Given the description of an element on the screen output the (x, y) to click on. 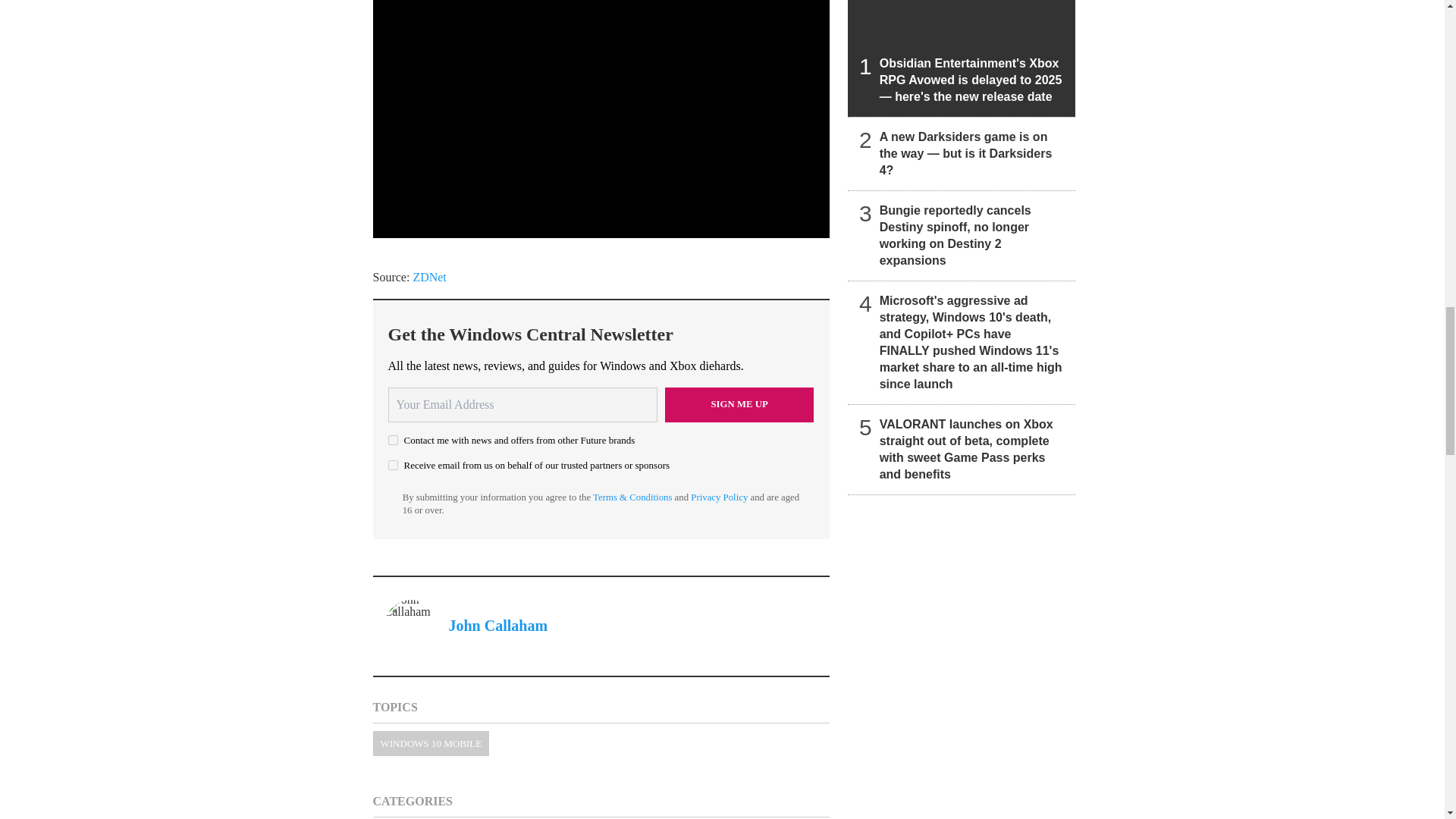
WINDOWS 10 MOBILE (430, 743)
Sign me up (739, 403)
ZDNet (428, 276)
Sign me up (739, 403)
on (392, 465)
Privacy Policy (719, 497)
John Callaham (498, 625)
on (392, 439)
